Given the description of an element on the screen output the (x, y) to click on. 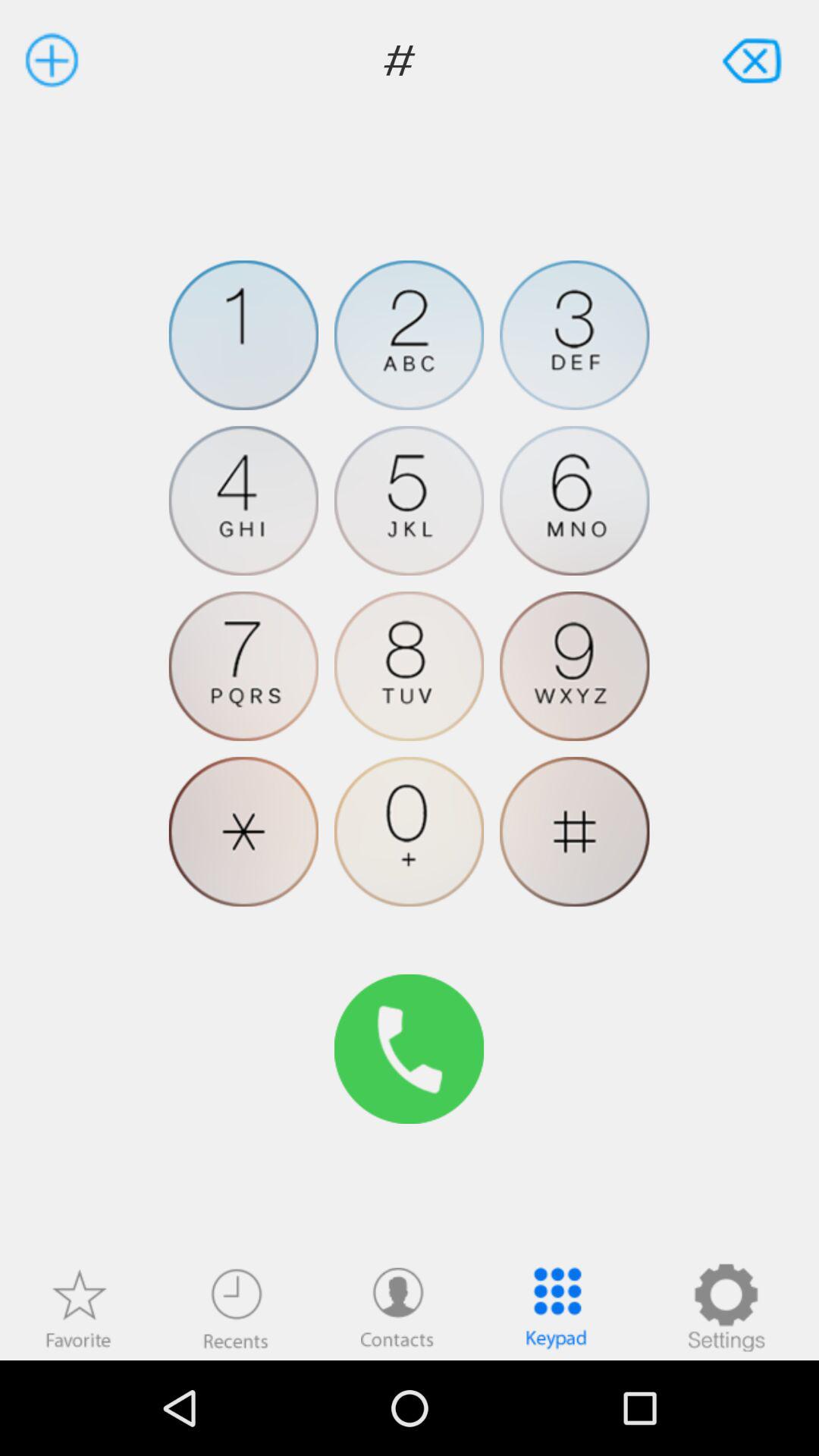
open keypad (556, 1307)
